Given the description of an element on the screen output the (x, y) to click on. 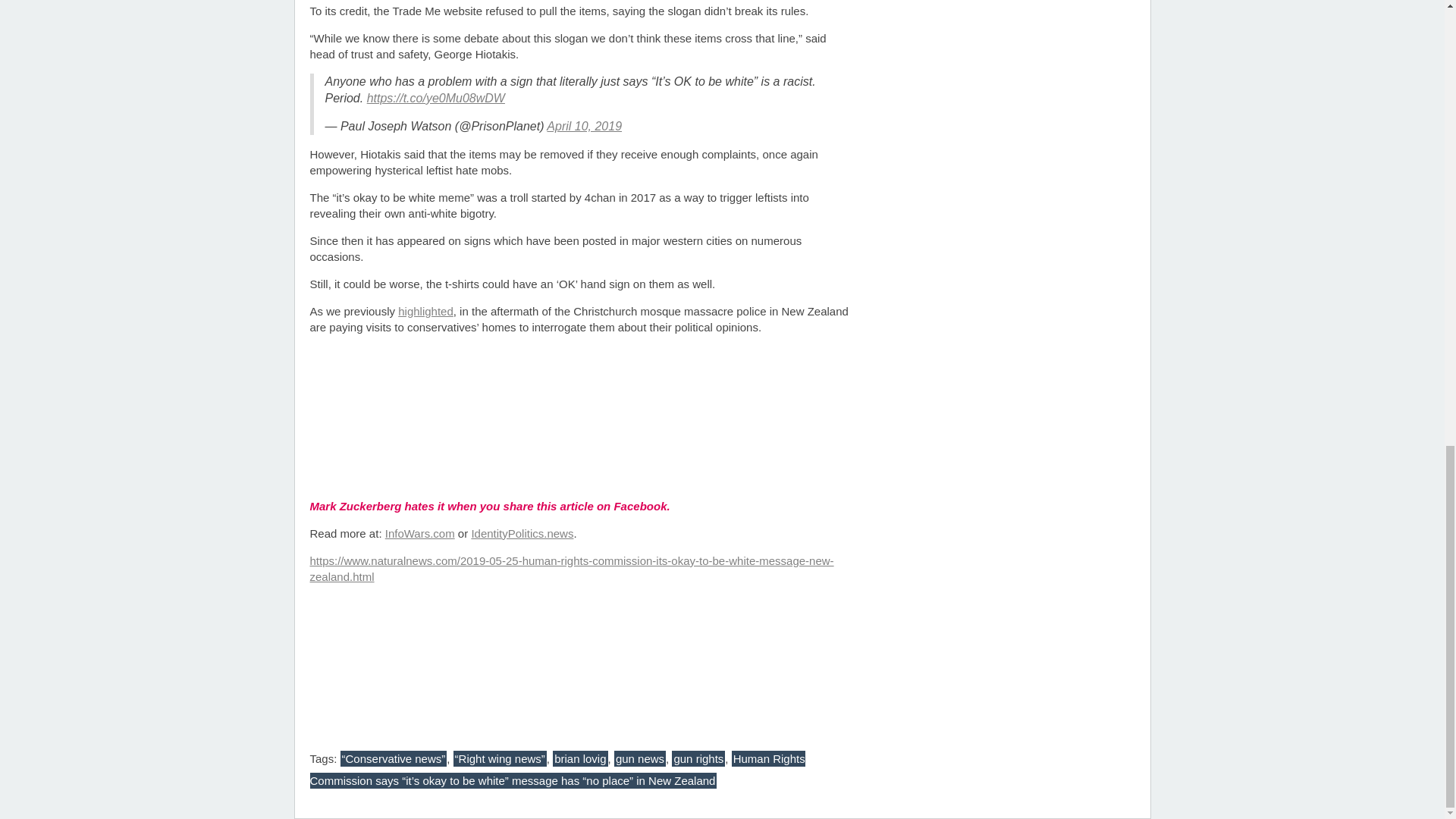
IdentityPolitics.news (521, 533)
InfoWars.com (419, 533)
highlighted (424, 310)
April 10, 2019 (584, 125)
